Given the description of an element on the screen output the (x, y) to click on. 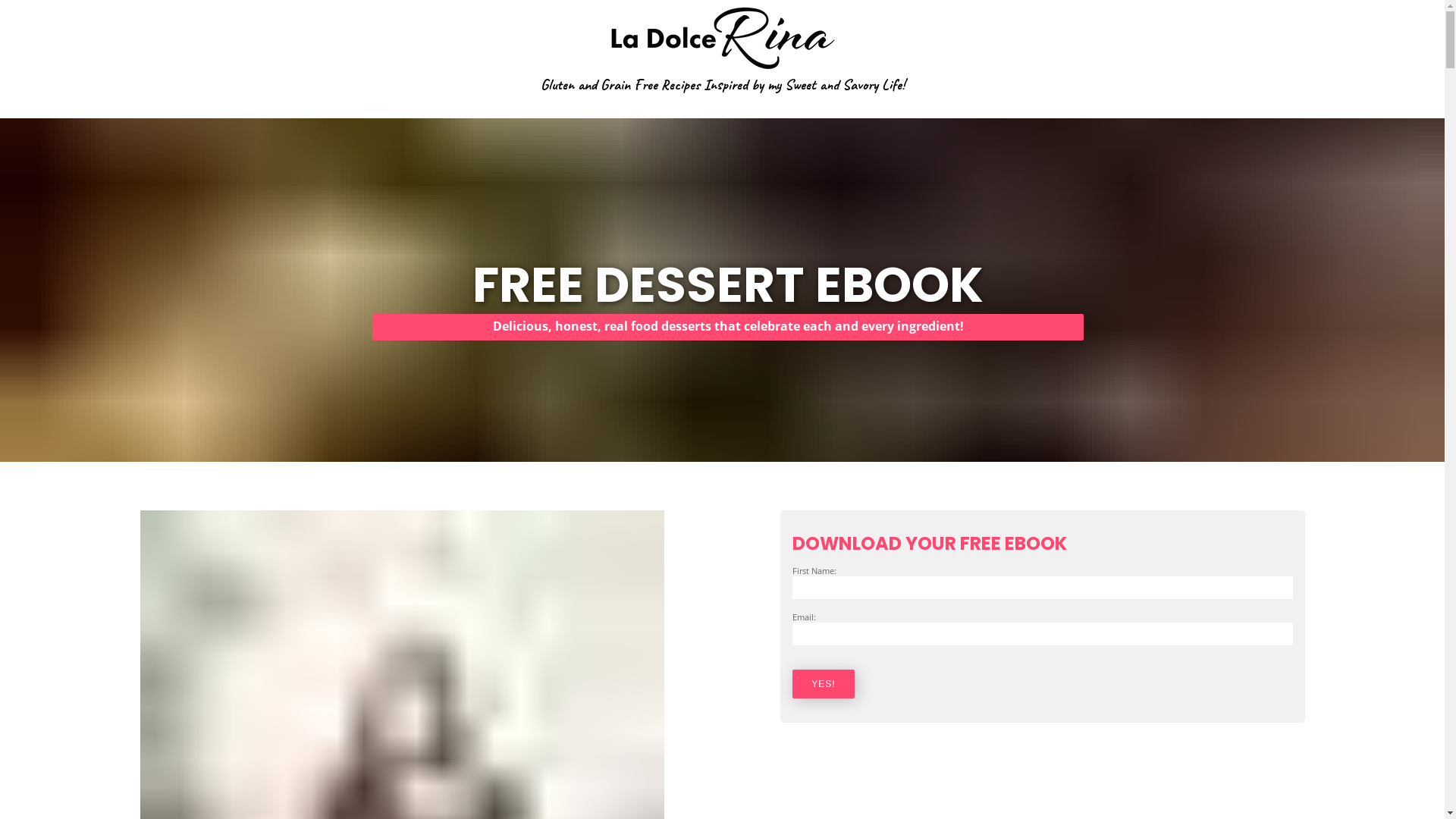
YES! Element type: text (822, 683)
